Given the description of an element on the screen output the (x, y) to click on. 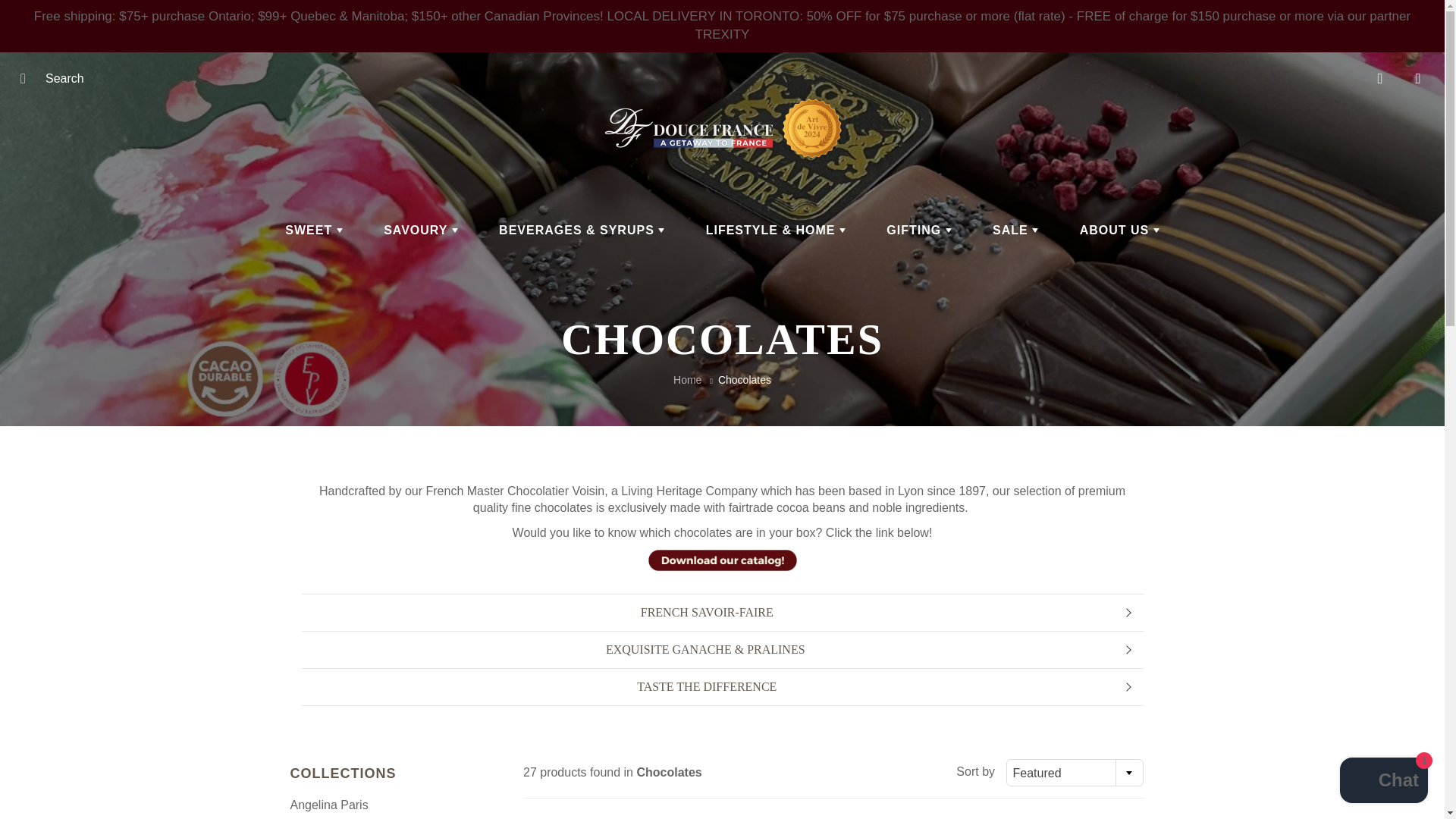
SWEET (313, 230)
Search (28, 78)
Home (686, 379)
You have 0 items in your cart (1417, 78)
SAVOURY (421, 230)
My account (1379, 78)
